Given the description of an element on the screen output the (x, y) to click on. 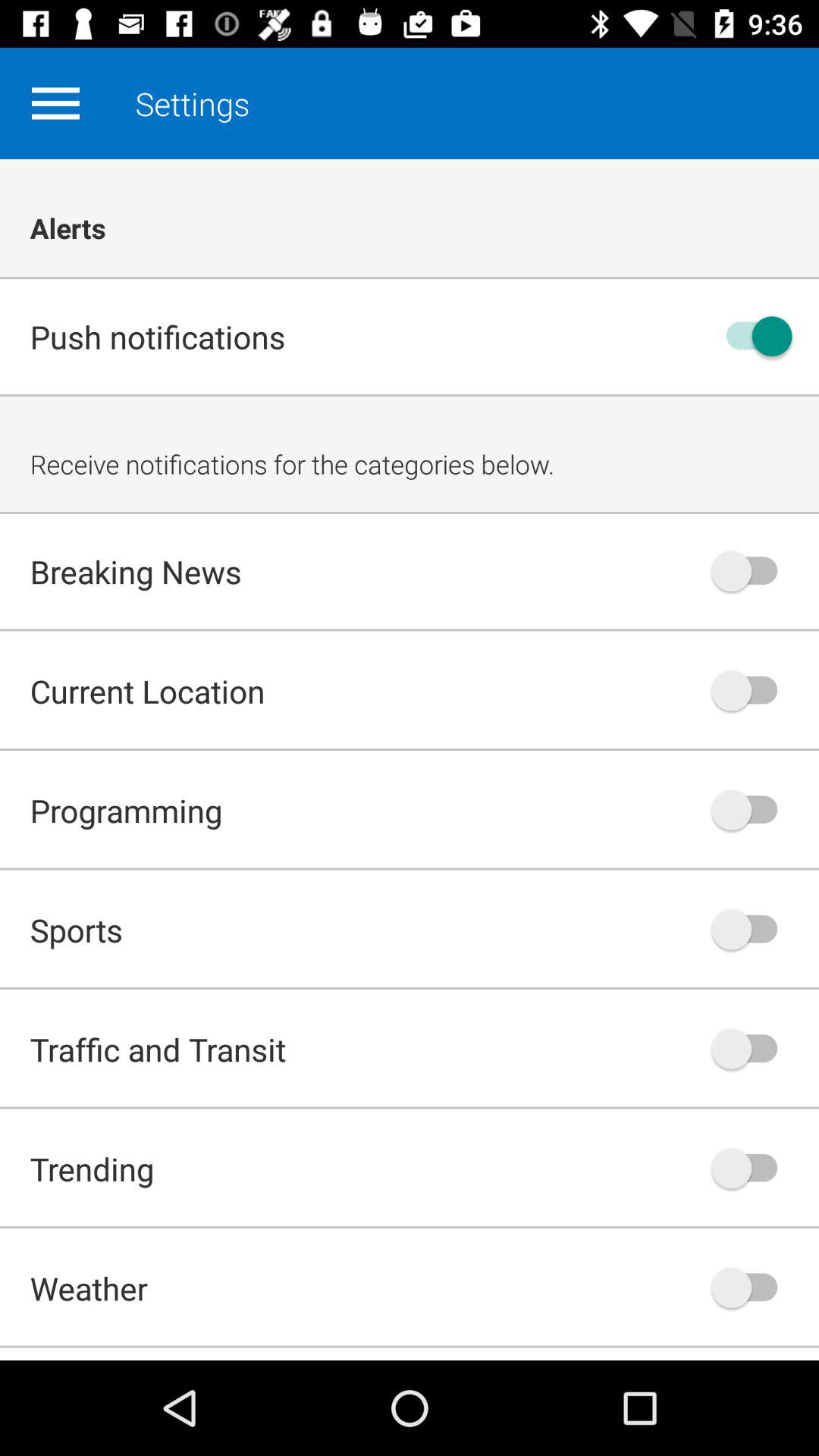
brings up options (55, 103)
